Given the description of an element on the screen output the (x, y) to click on. 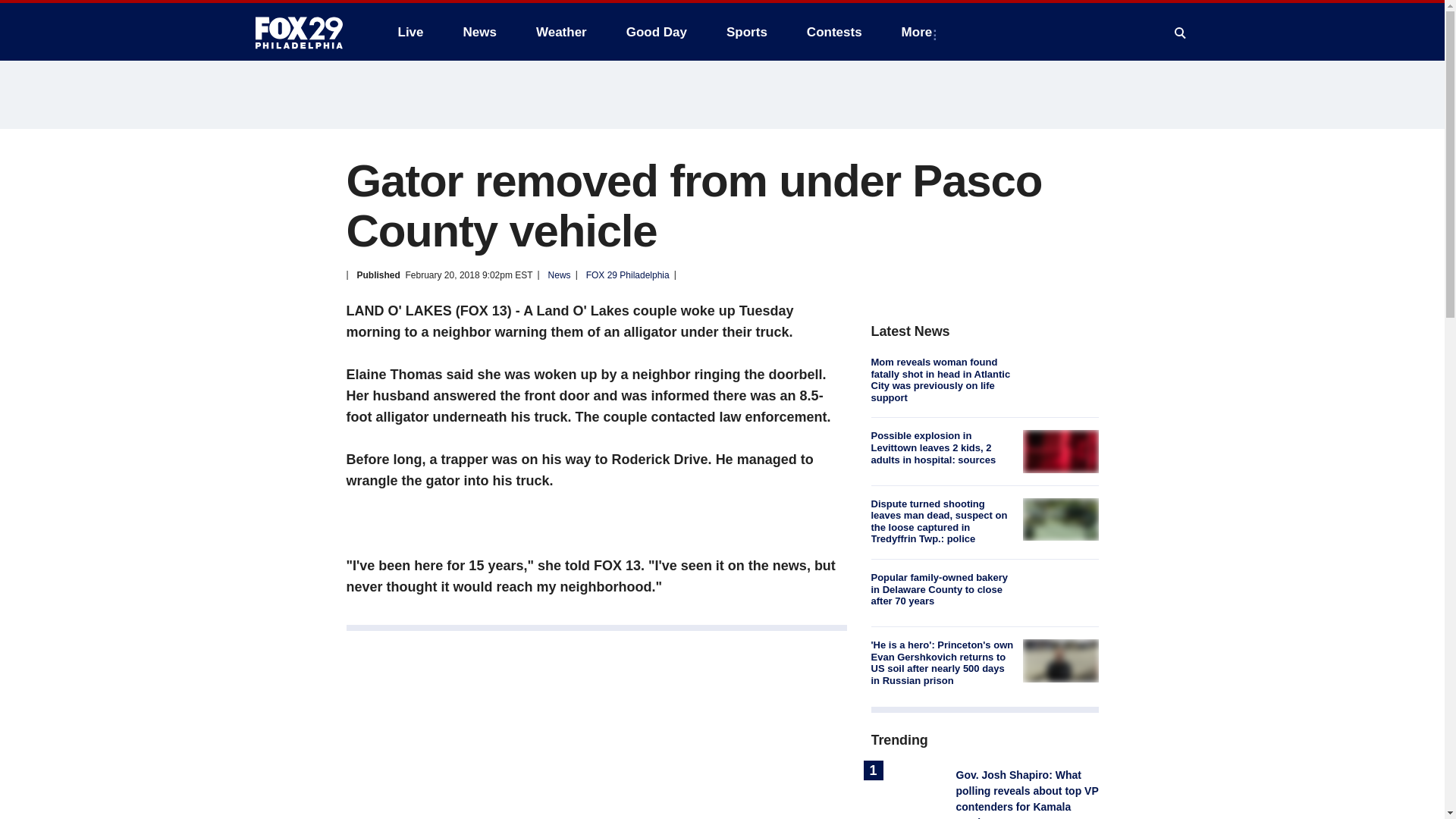
News (479, 32)
Good Day (656, 32)
Weather (561, 32)
Sports (746, 32)
Contests (834, 32)
More (919, 32)
Live (410, 32)
